Given the description of an element on the screen output the (x, y) to click on. 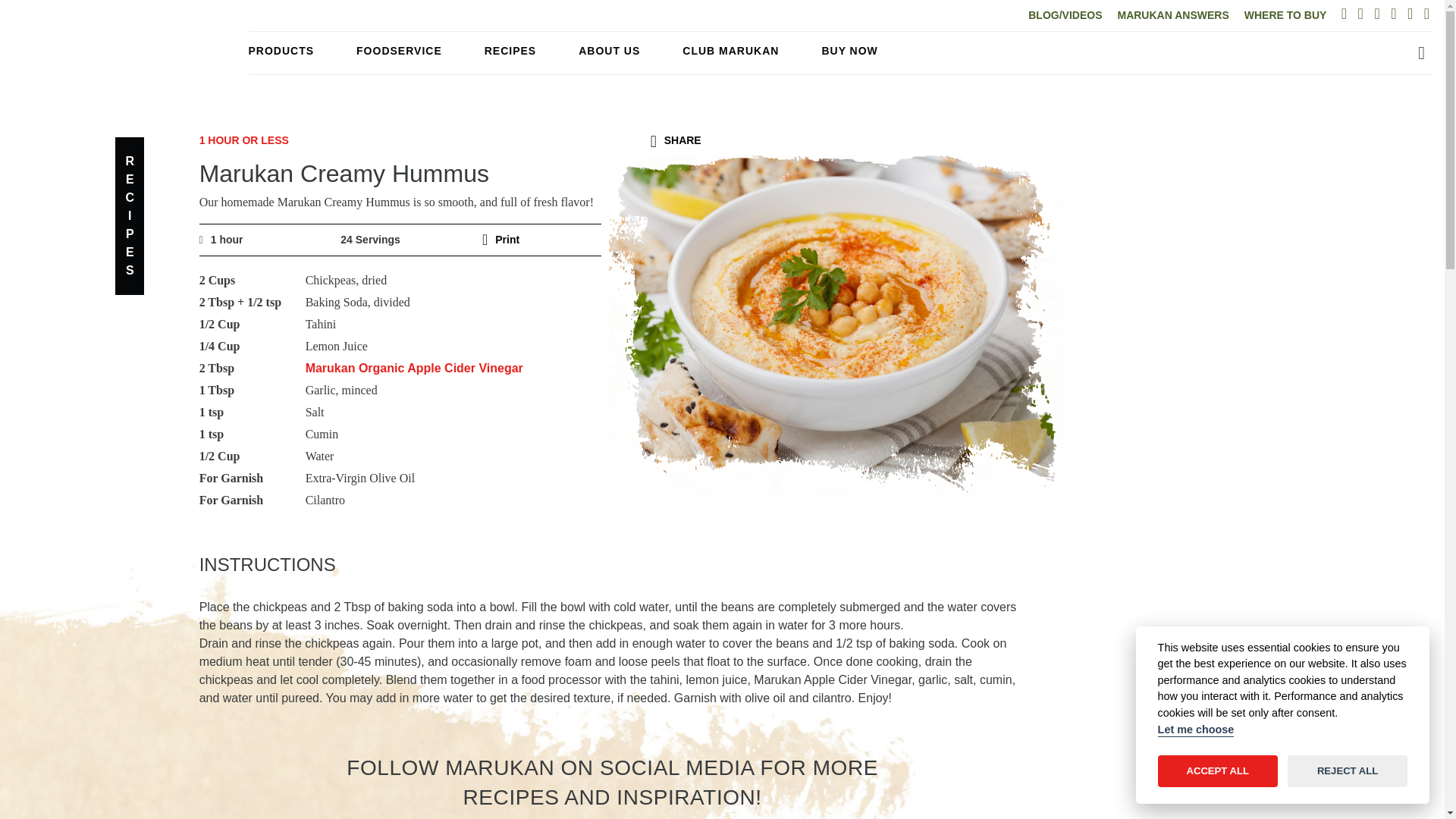
RECIPES (509, 50)
ABOUT US (609, 50)
MARUKAN ANSWERS (1172, 15)
PRODUCTS (281, 50)
Marukan (129, 60)
CLUB MARUKAN (730, 50)
FOODSERVICE (399, 50)
BUY NOW (849, 50)
WHERE TO BUY (1285, 15)
